Given the description of an element on the screen output the (x, y) to click on. 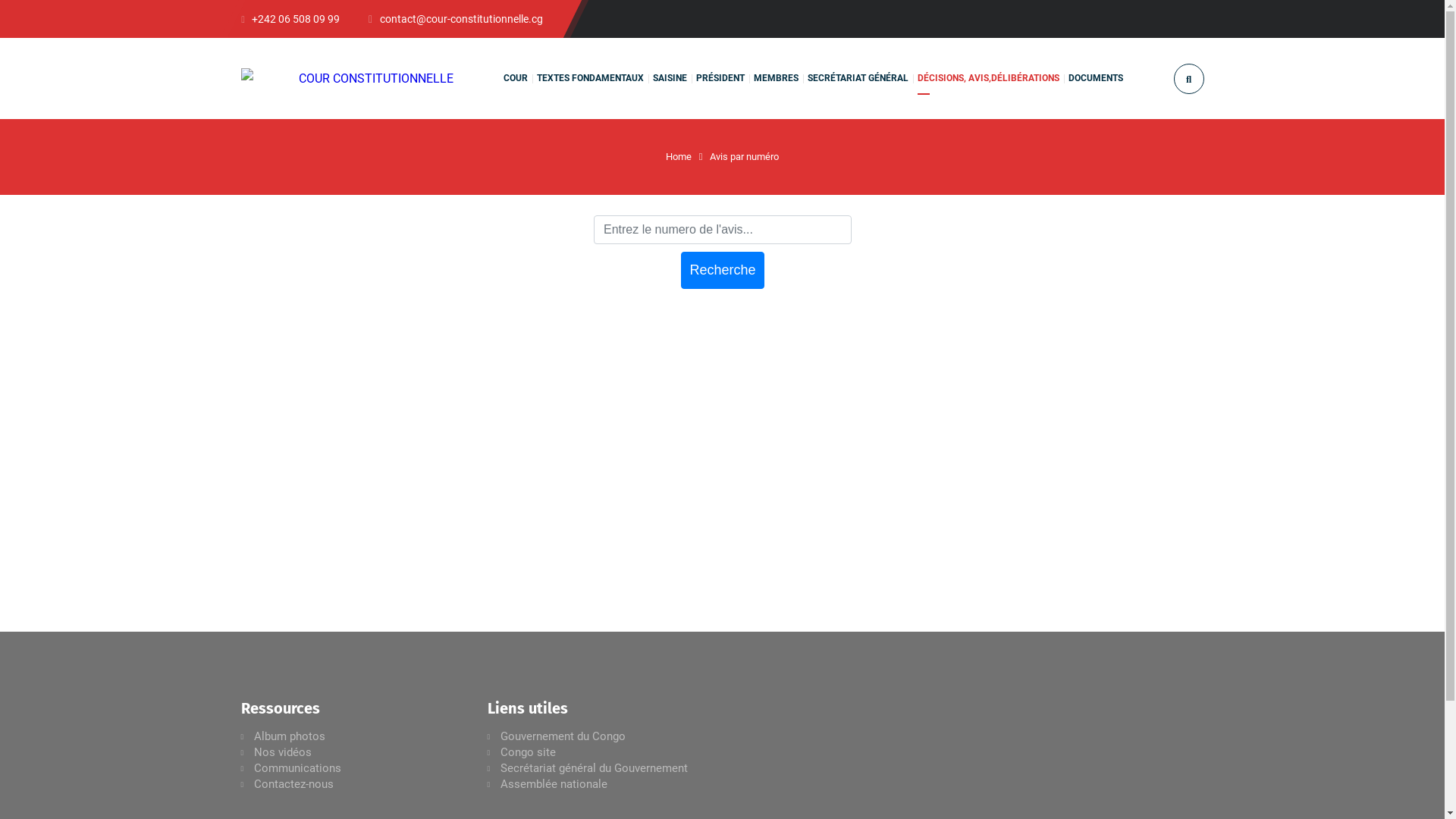
Gouvernement du Congo Element type: text (562, 736)
SAISINE Element type: text (669, 78)
Home Element type: text (678, 156)
Congo site Element type: text (527, 752)
MEMBRES Element type: text (775, 78)
+242 06 508 09 99 Element type: text (290, 18)
Communications Element type: text (296, 768)
Album photos Element type: text (288, 736)
COUR CONSTITUTIONNELLE Element type: hover (347, 78)
TEXTES FONDAMENTAUX Element type: text (589, 78)
contact@cour-constitutionnelle.cg Element type: text (455, 18)
COUR Element type: text (515, 78)
DOCUMENTS Element type: text (1094, 78)
Contactez-nous Element type: text (292, 783)
